Given the description of an element on the screen output the (x, y) to click on. 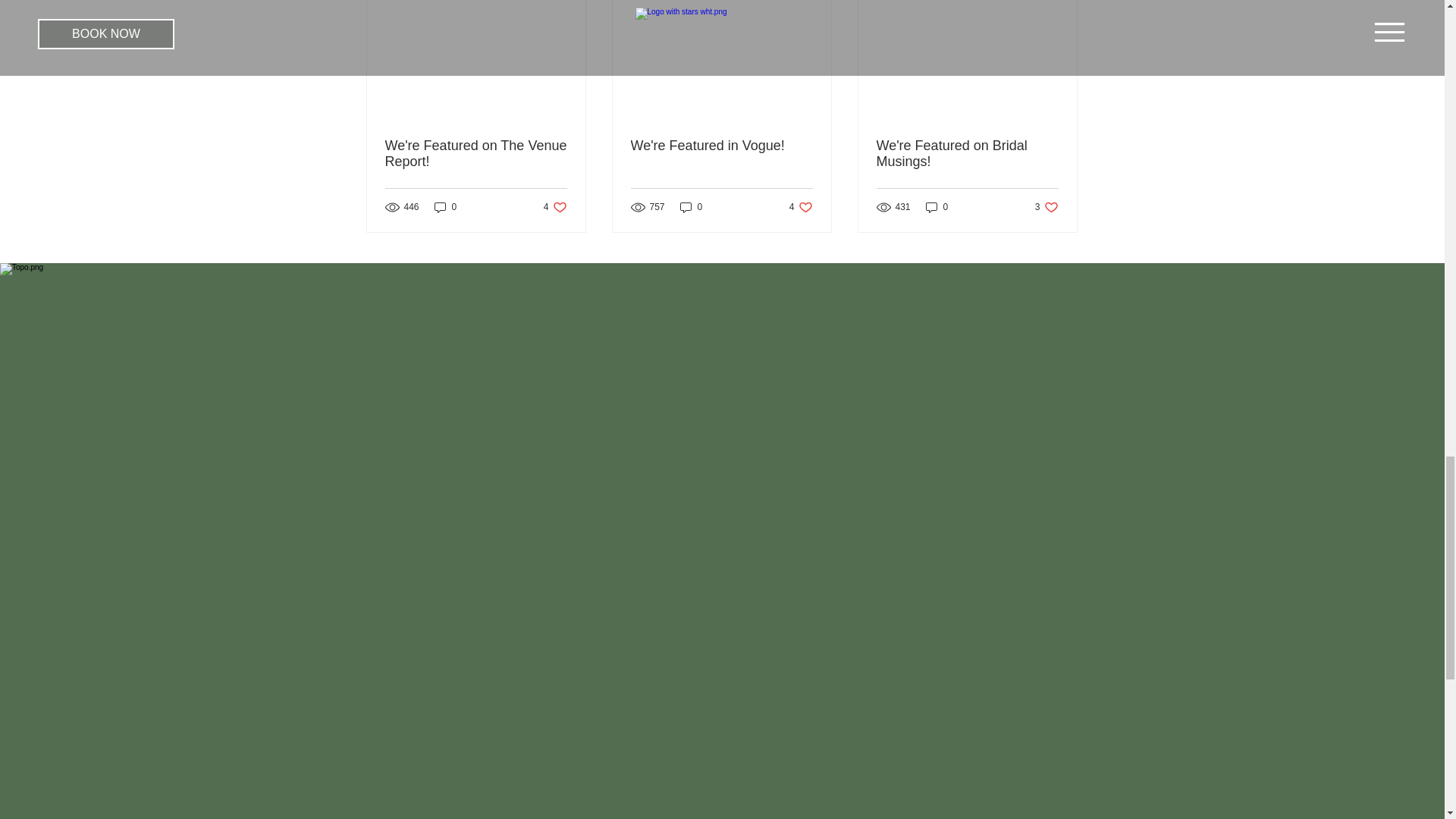
0 (691, 206)
We're Featured on The Venue Report! (555, 206)
0 (476, 153)
We're Featured on Bridal Musings! (1046, 206)
0 (937, 206)
We're Featured in Vogue! (800, 206)
